Given the description of an element on the screen output the (x, y) to click on. 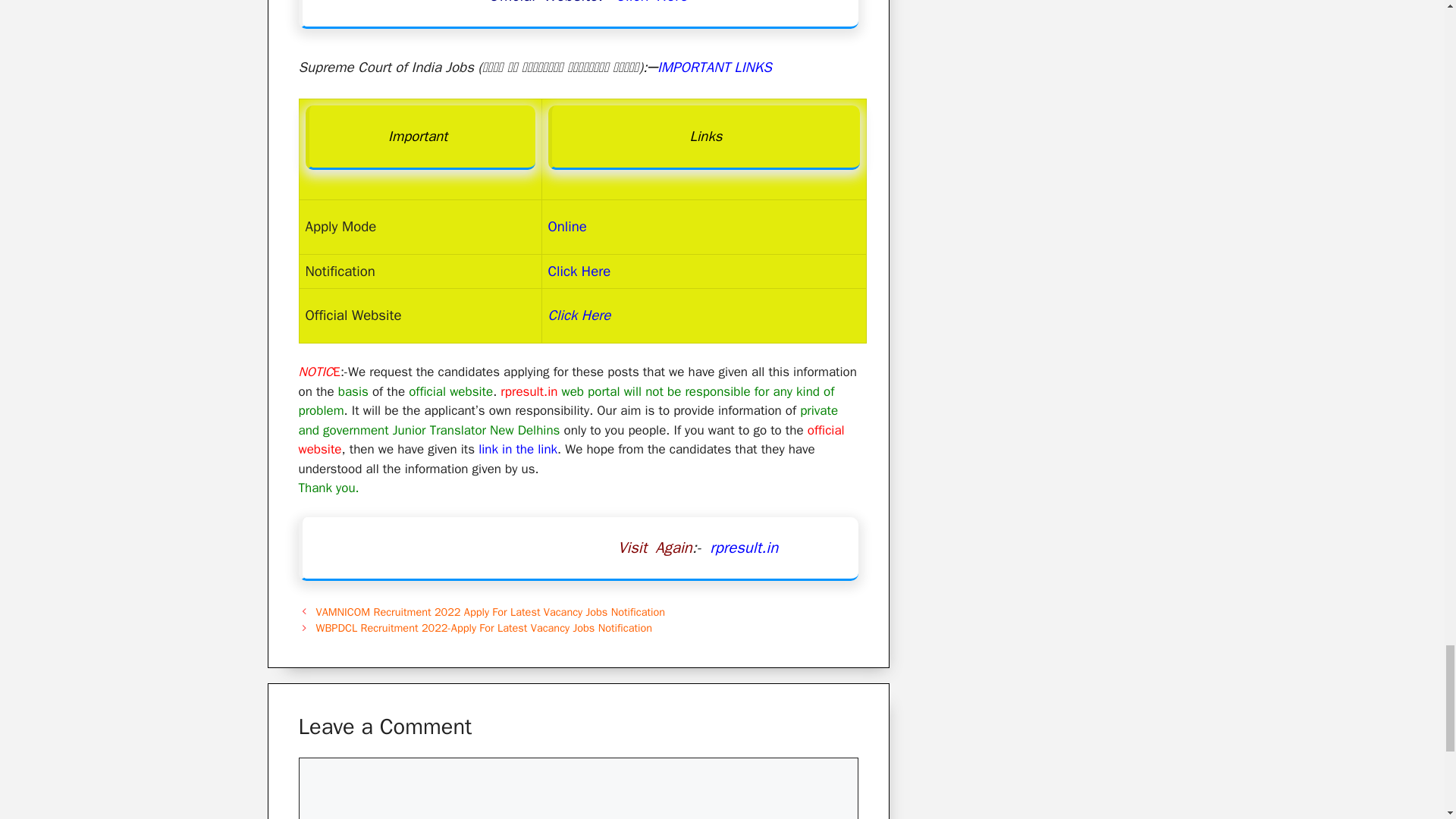
rpresult.in (743, 547)
Previous (490, 612)
Click Here (579, 315)
Next (483, 627)
Click Here (647, 2)
